Given the description of an element on the screen output the (x, y) to click on. 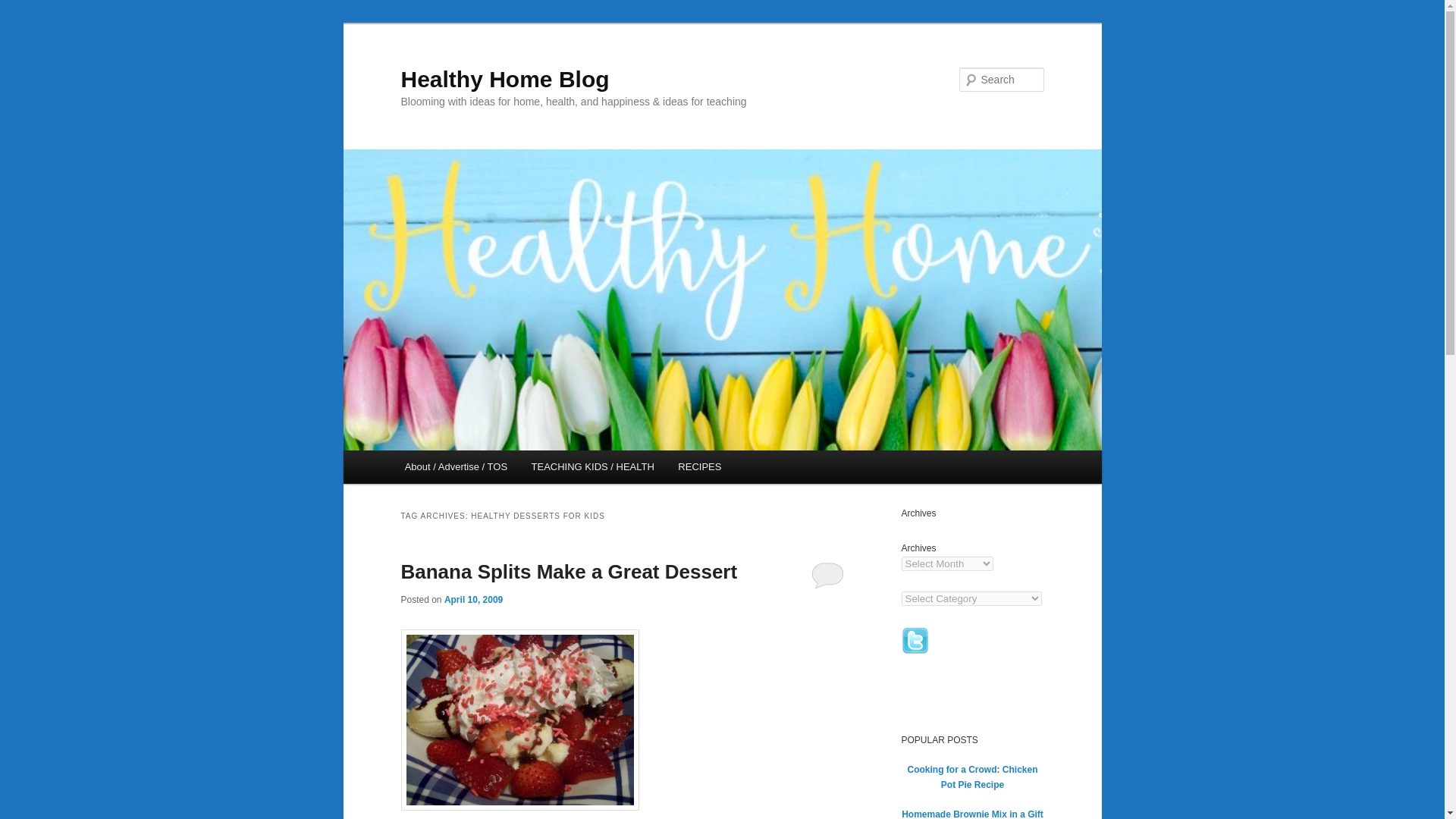
April 10, 2009 (473, 599)
2nd-sd-card-organic-foods-banana-splits-volcanoes-006 (519, 719)
RECIPES (699, 466)
Banana Splits Make a Great Dessert (568, 571)
Cooking for a Crowd: Chicken Pot Pie Recipe (971, 777)
Search (24, 8)
Healthy Home Blog (504, 78)
Homemade Brownie Mix in a Gift Jar (972, 814)
9:10 am (473, 599)
